Given the description of an element on the screen output the (x, y) to click on. 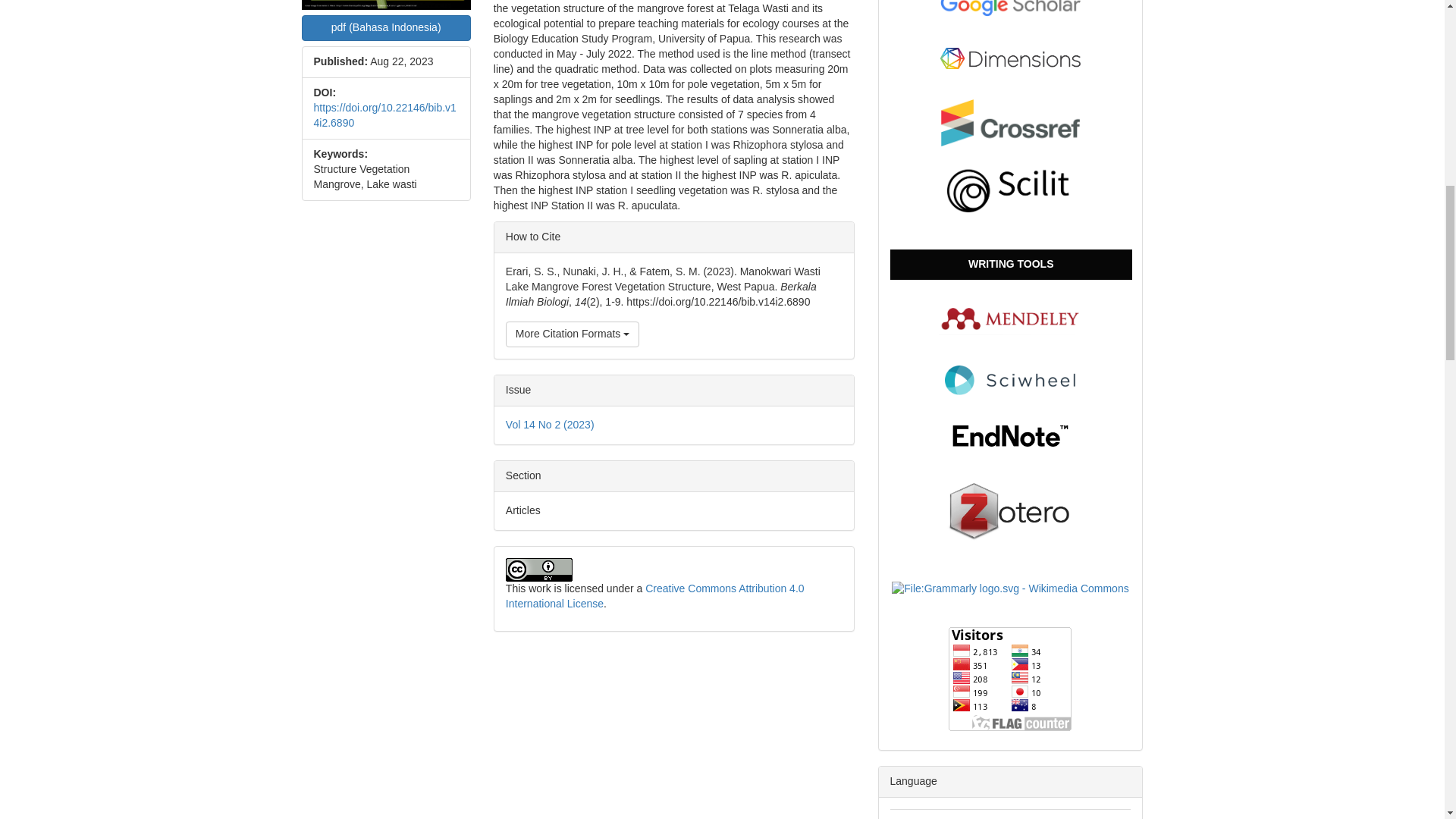
Gscholar (1010, 5)
More Citation Formats (572, 334)
Index Dimensions (1010, 57)
